Given the description of an element on the screen output the (x, y) to click on. 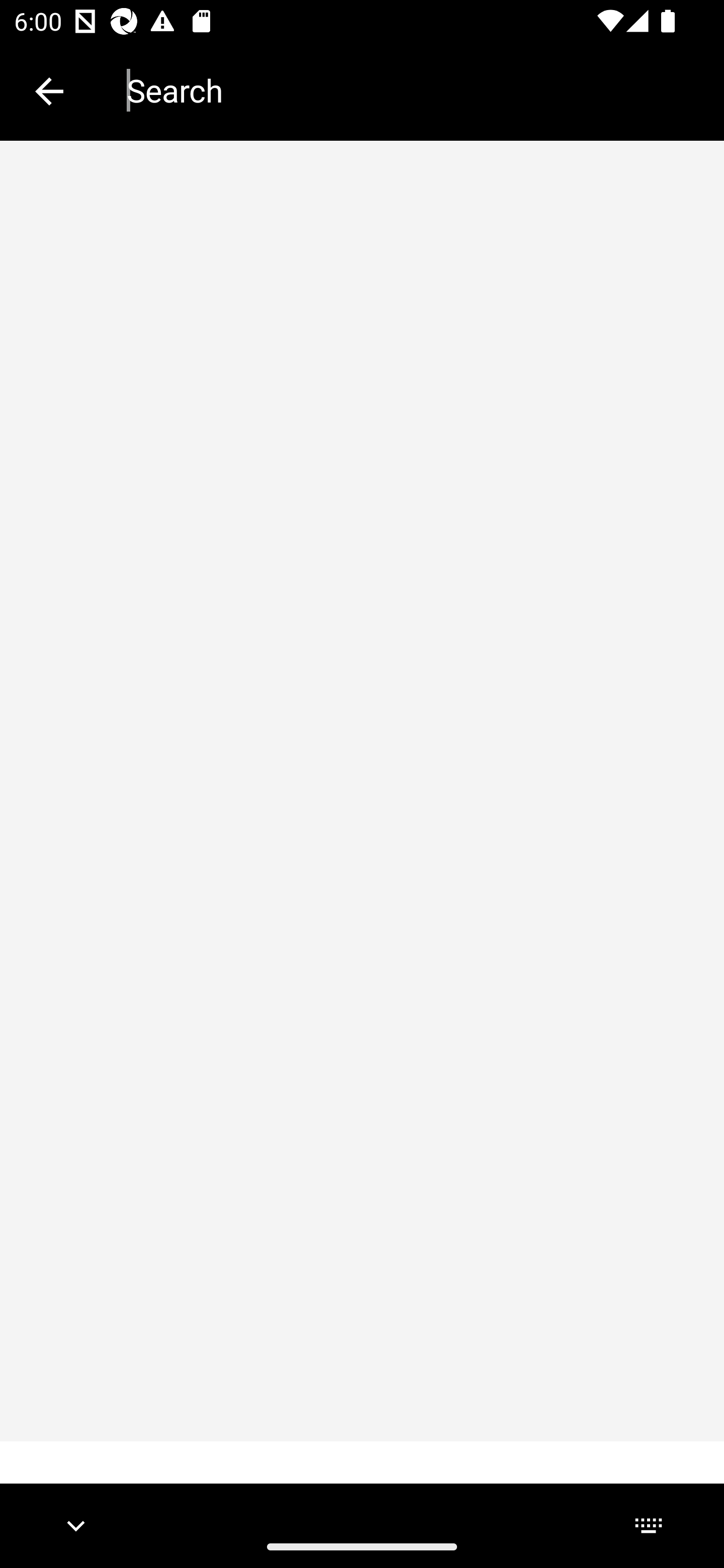
Collapse (49, 91)
Search (411, 90)
